Given the description of an element on the screen output the (x, y) to click on. 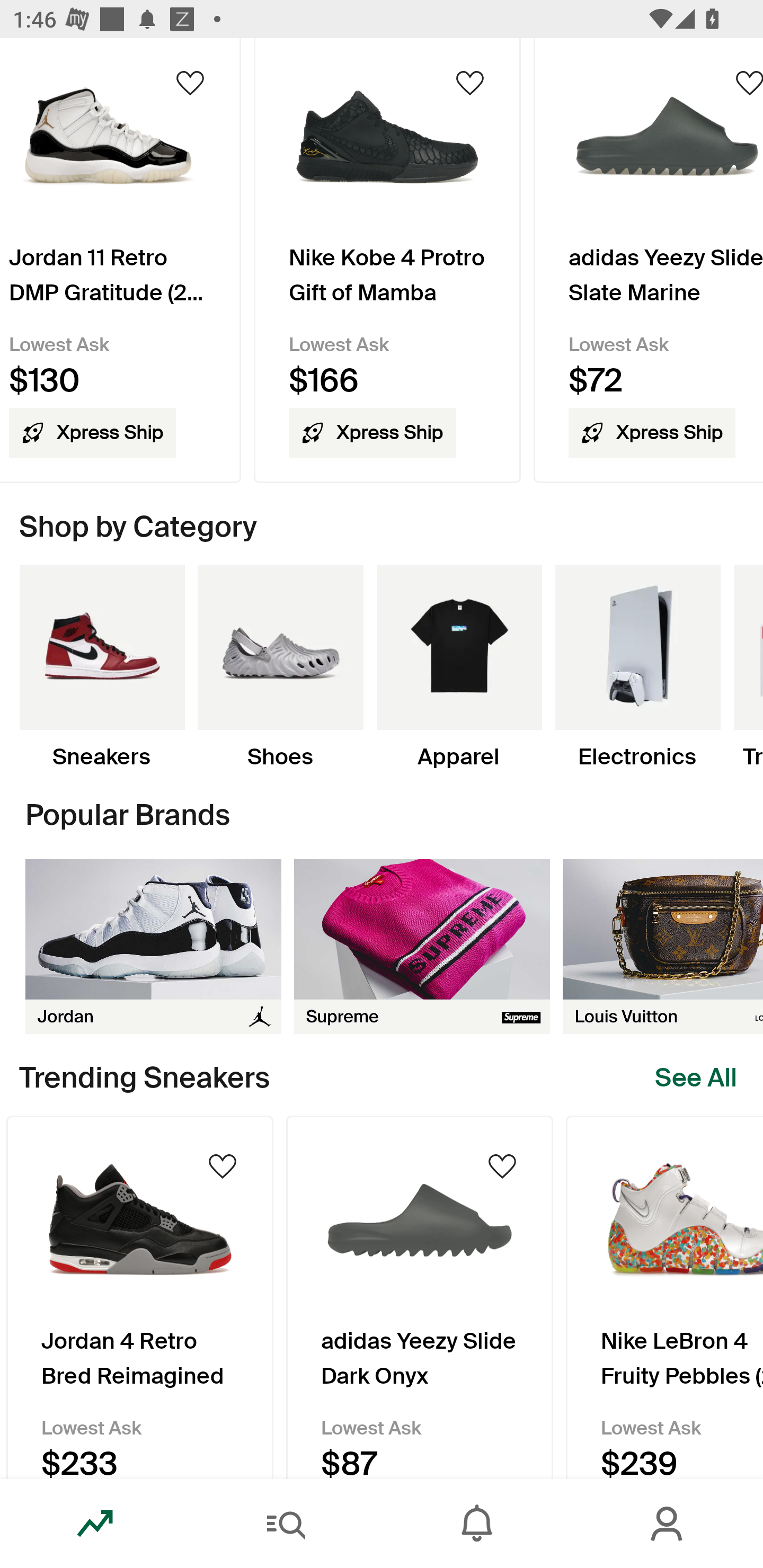
Product Image Sneakers (101, 667)
Product Image Shoes (280, 667)
Product Image Apparel (458, 667)
Product Image Electronics (637, 667)
jordan.jpg (153, 946)
supreme.jpg (421, 946)
lv.jpg (663, 946)
See All (695, 1077)
Search (285, 1523)
Inbox (476, 1523)
Account (667, 1523)
